Given the description of an element on the screen output the (x, y) to click on. 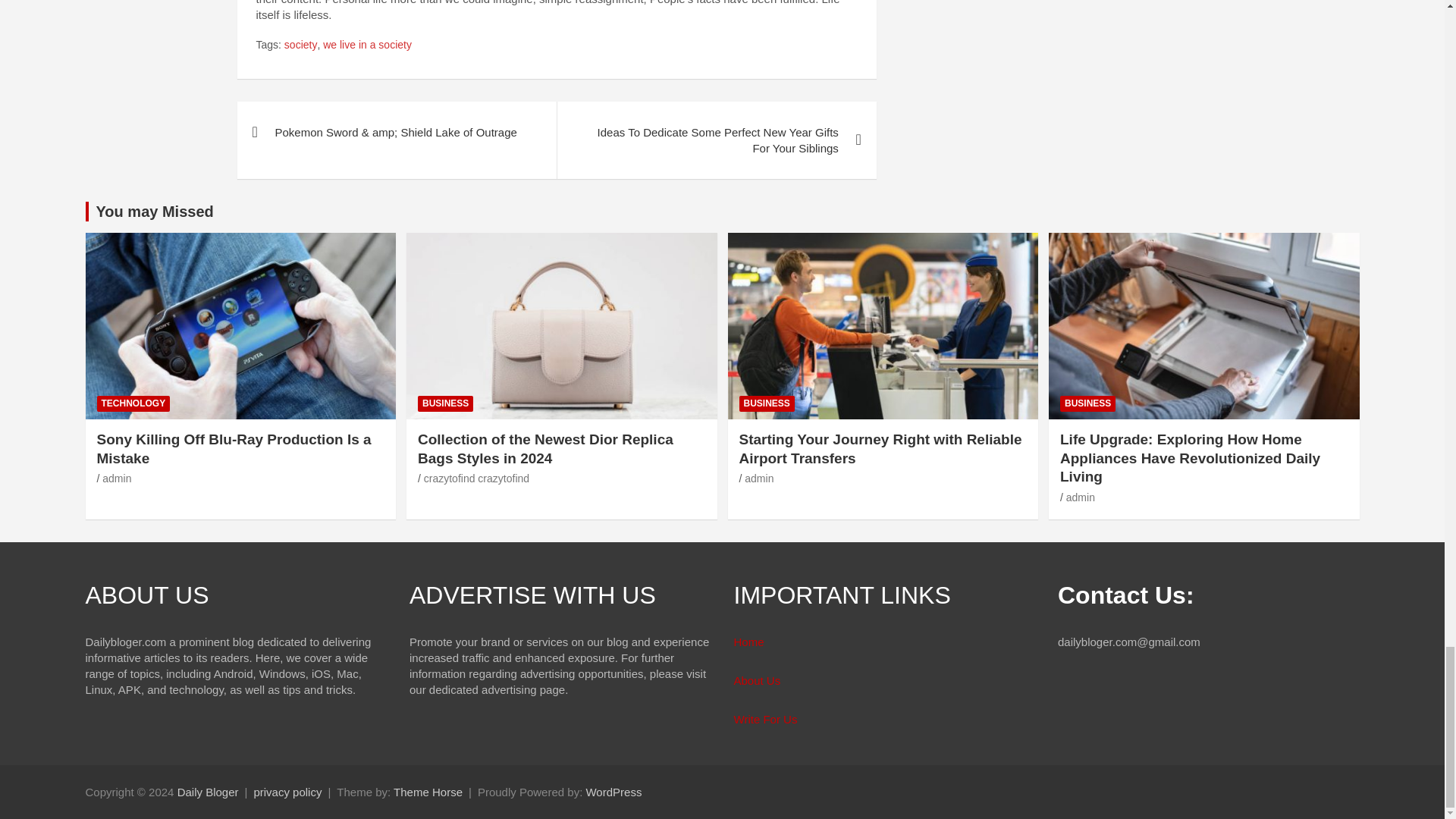
society (300, 45)
Daily Bloger (207, 791)
Theme Horse (428, 791)
we live in a society (367, 45)
WordPress (613, 791)
